Given the description of an element on the screen output the (x, y) to click on. 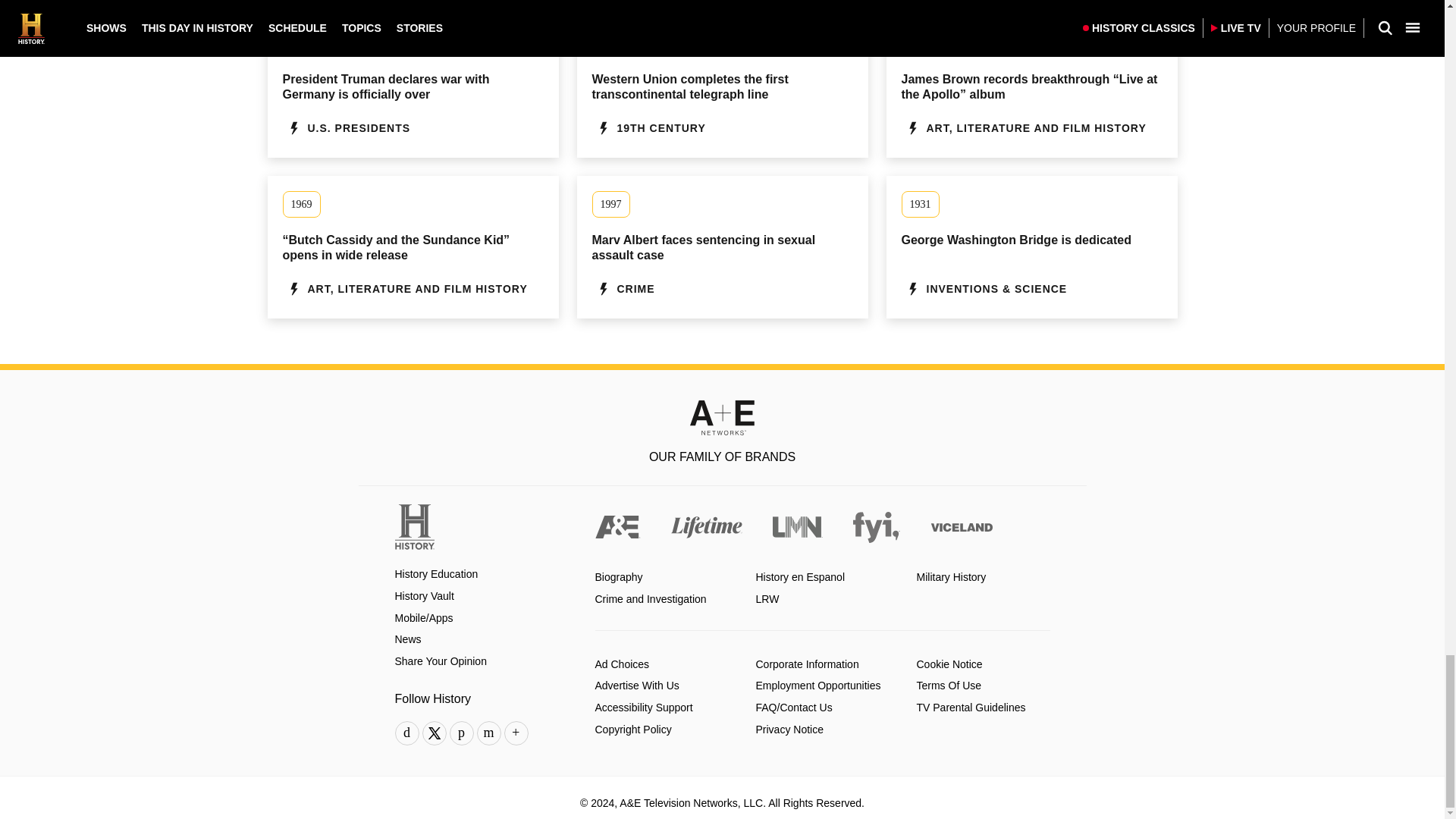
Visit Biography (618, 576)
Visit Employment Opportunities (817, 685)
Visit Accessibility Support (643, 707)
Visit History Vault (423, 595)
Visit Privacy Notice (788, 729)
Visit Military History (950, 576)
Visit Advertise With Us (636, 685)
Visit Ad Choices (621, 664)
Visit Share Your Opinion (440, 661)
Visit Crime and Investigation (650, 599)
Visit News (407, 639)
Visit History en Espanol (799, 576)
Visit Copyright Policy (632, 729)
Visit LRW (766, 599)
Visit History Education (435, 574)
